Given the description of an element on the screen output the (x, y) to click on. 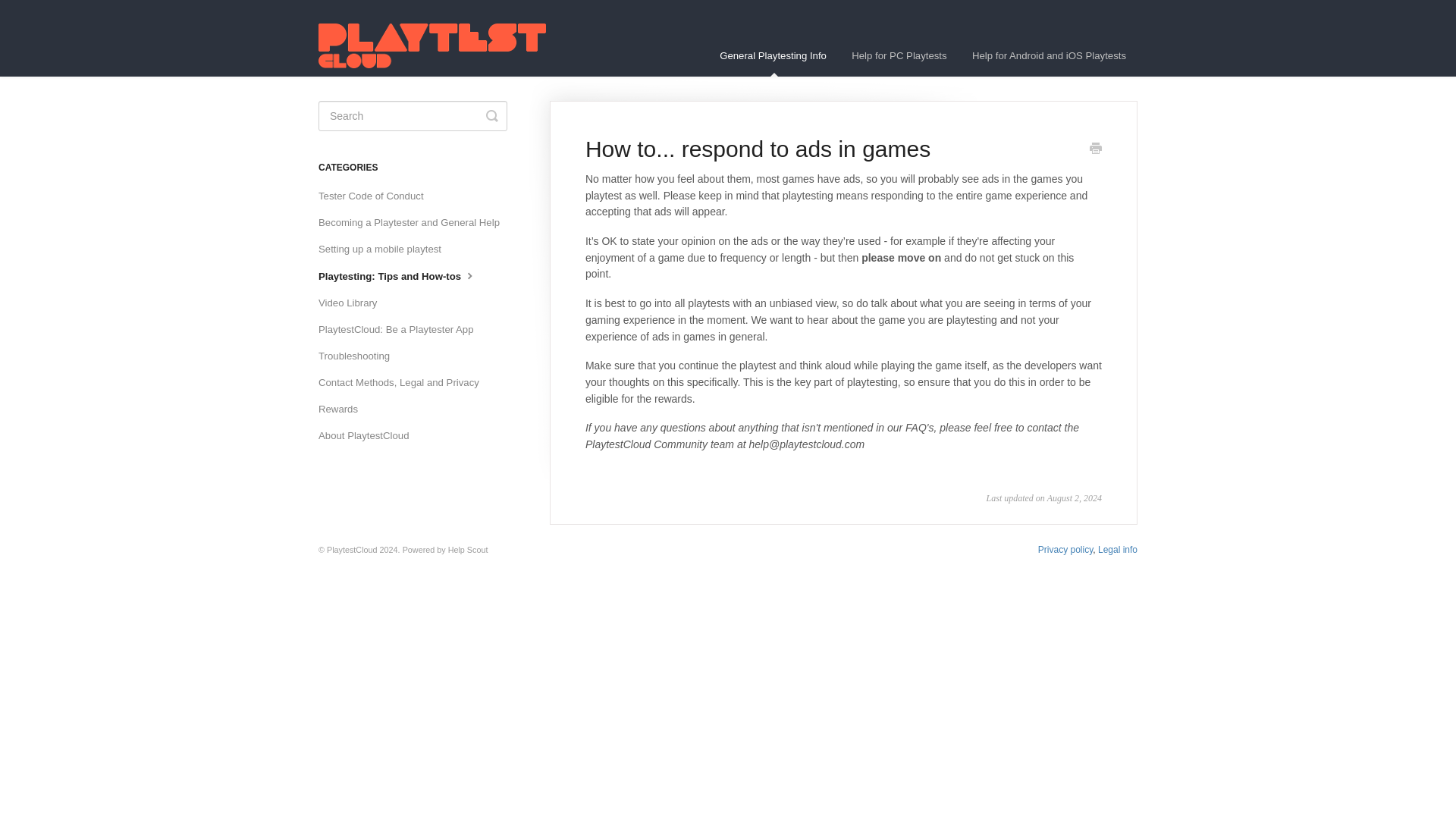
Video Library (353, 303)
Playtesting: Tips and How-tos (403, 276)
Becoming a Playtester and General Help (414, 222)
Privacy policy (1065, 549)
General Playtesting Info (772, 56)
Help for Android and iOS Playtests (1048, 56)
Legal info (1117, 549)
PlaytestCloud: Be a Playtester App (401, 329)
search-query (412, 115)
Rewards (343, 409)
